Given the description of an element on the screen output the (x, y) to click on. 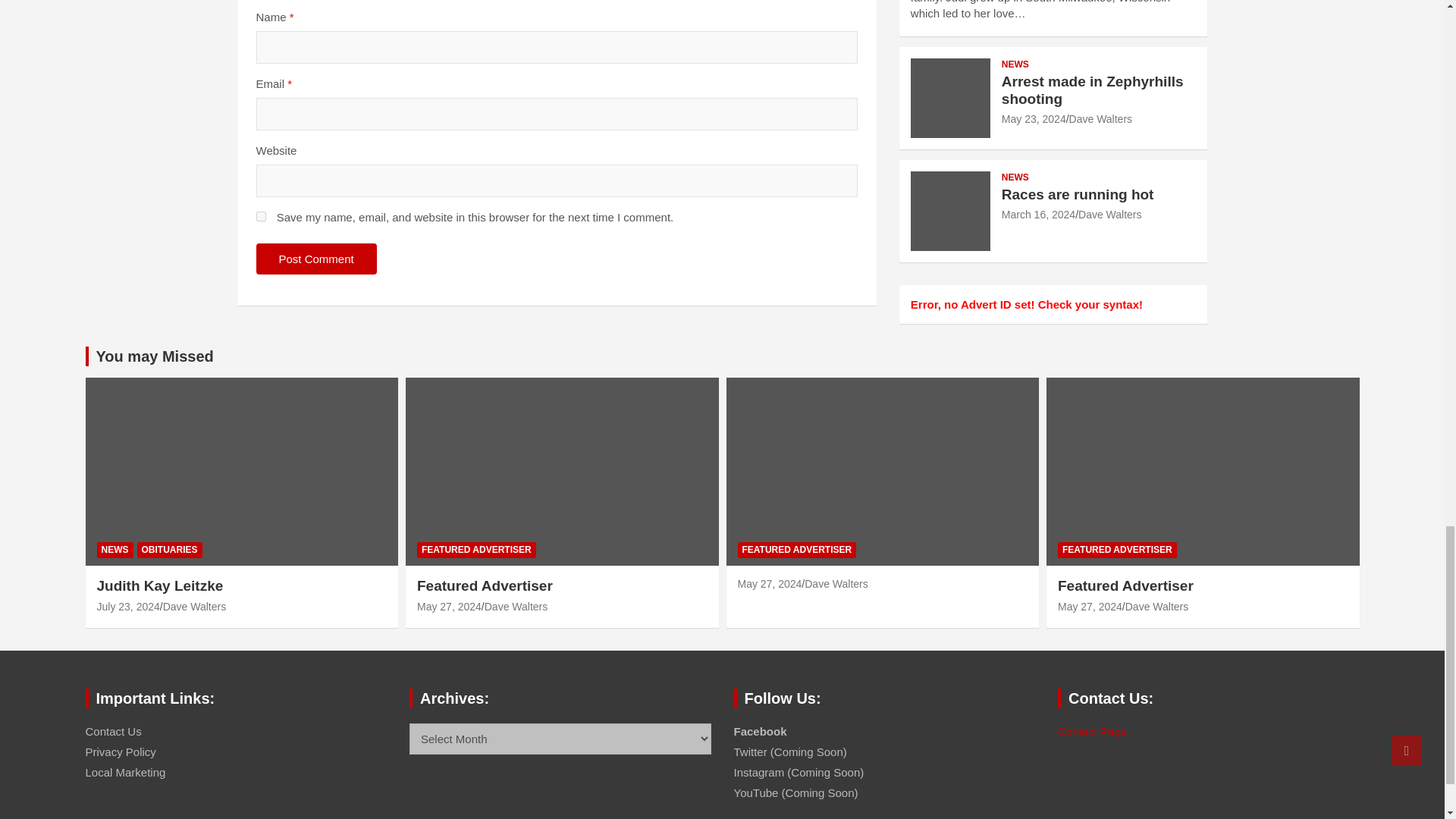
Post Comment (316, 258)
Races are running hot (1038, 214)
Featured Advertiser (448, 606)
Judith Kay Leitzke (128, 606)
yes (261, 216)
Arrest made in Zephyrhills shooting (1033, 119)
Post Comment (316, 258)
Featured Advertiser (1090, 606)
